Given the description of an element on the screen output the (x, y) to click on. 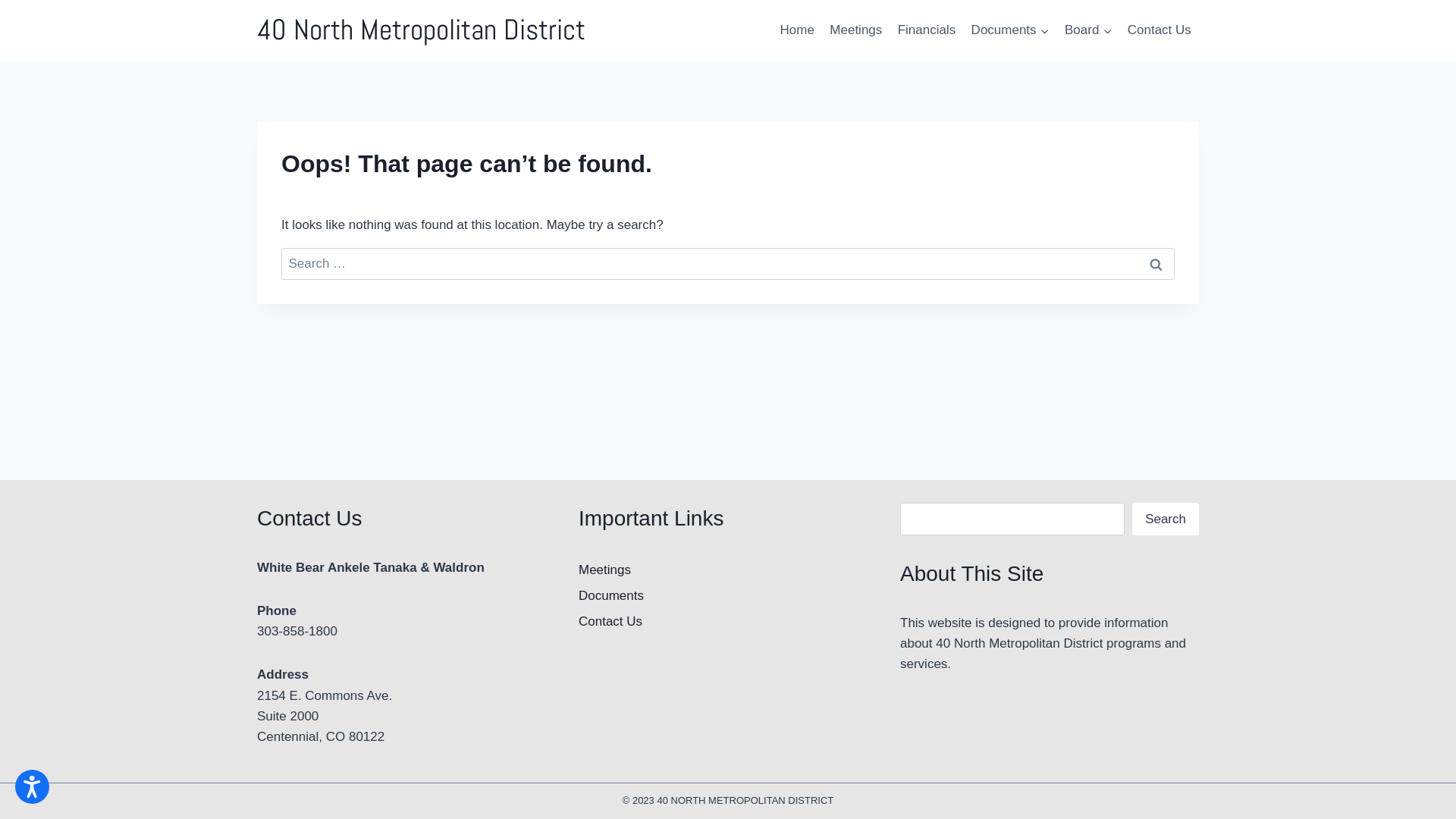
Contact Us Element type: text (727, 621)
Documents Element type: text (727, 595)
Documents Element type: text (1009, 30)
Meetings Element type: text (855, 30)
Contact Us Element type: text (1159, 30)
Search Element type: text (1165, 518)
Home Element type: text (796, 30)
Meetings Element type: text (727, 570)
Search Element type: text (1155, 263)
Financials Element type: text (926, 30)
40 North Metropolitan District Element type: text (421, 29)
Board Element type: text (1088, 30)
